Given the description of an element on the screen output the (x, y) to click on. 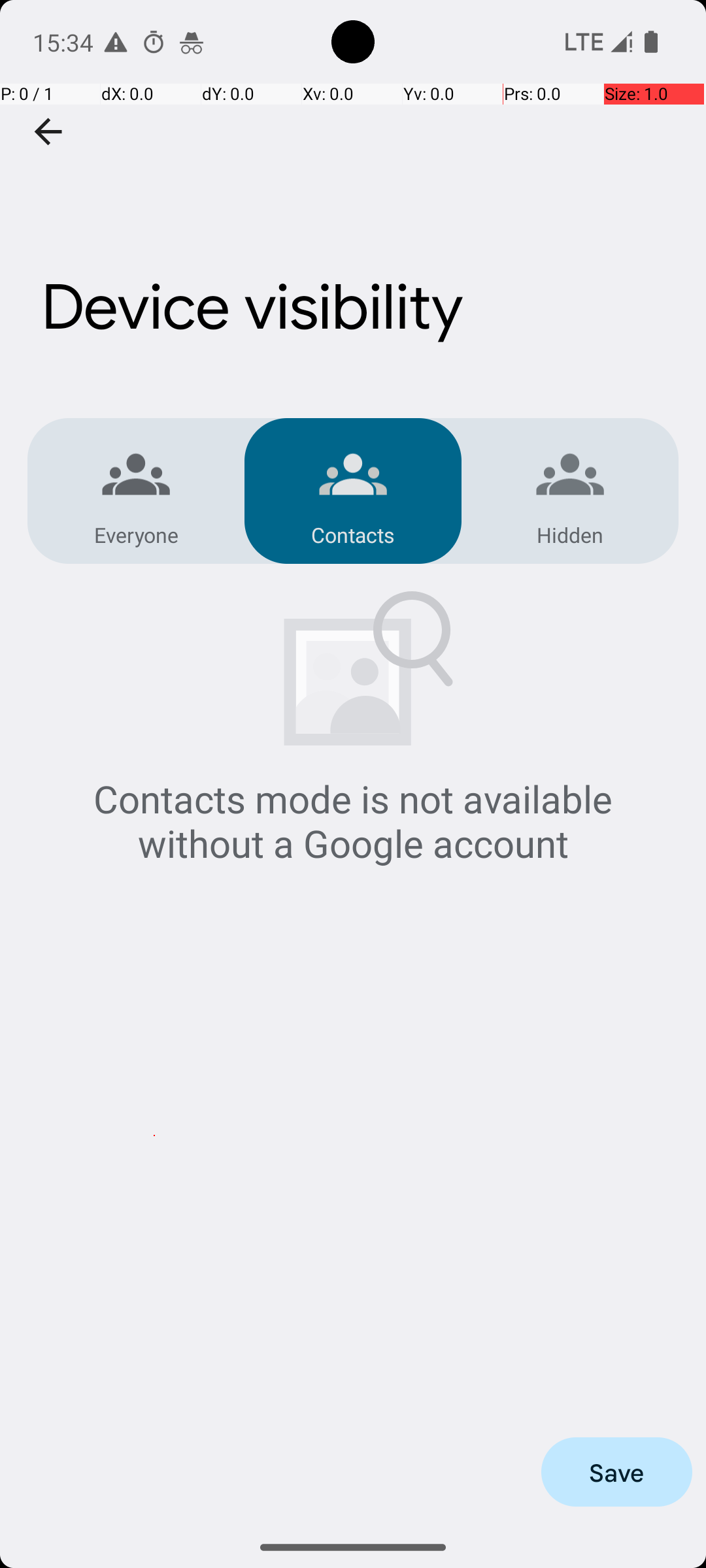
Device visibility Element type: android.widget.FrameLayout (353, 236)
Contacts mode is not available without a Google account Element type: android.widget.TextView (352, 820)
Everyone Element type: android.widget.TextView (135, 534)
Hidden Element type: android.widget.TextView (569, 534)
